Given the description of an element on the screen output the (x, y) to click on. 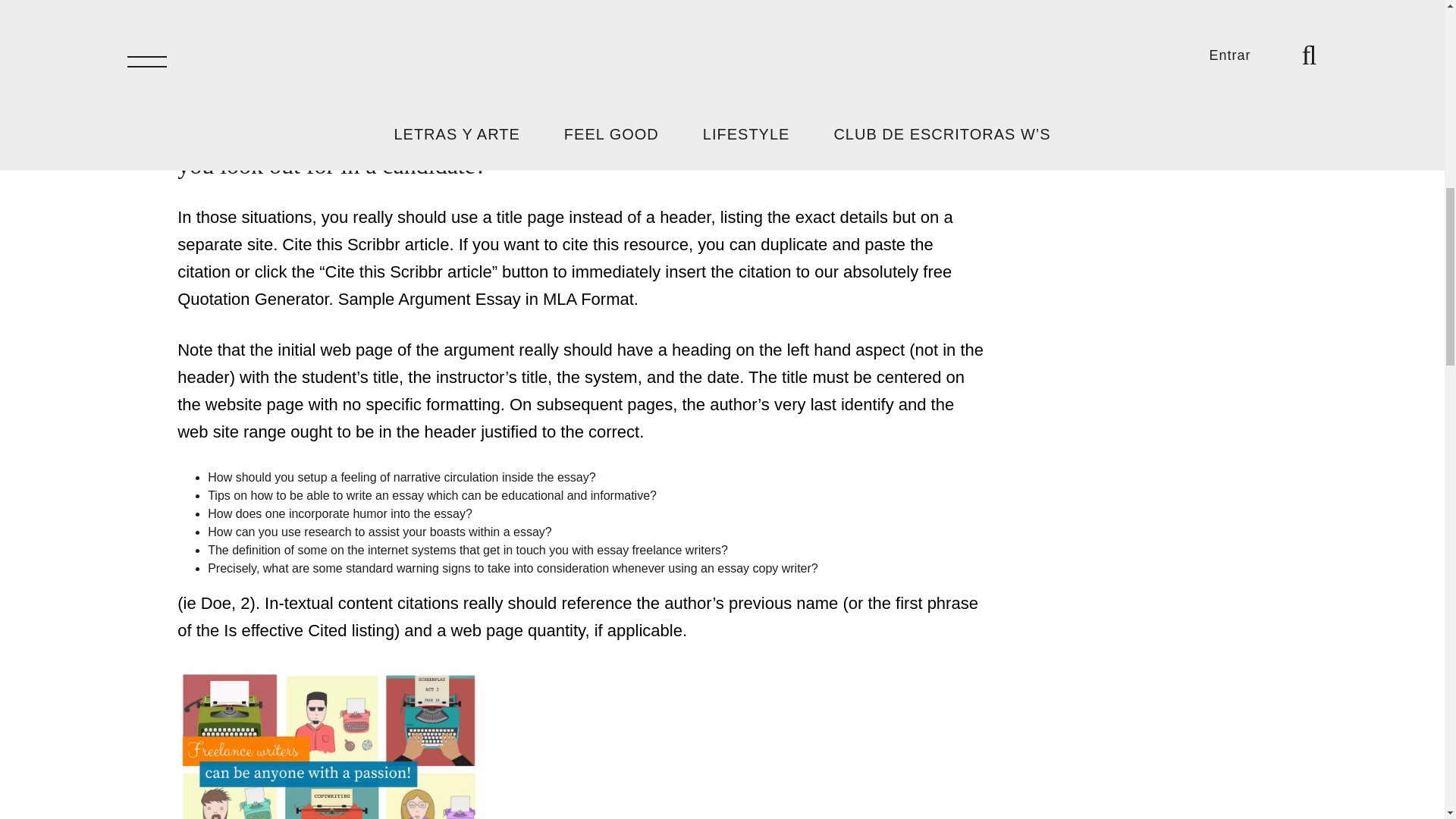
Enviar (1040, 90)
Enviar (1040, 90)
